Given the description of an element on the screen output the (x, y) to click on. 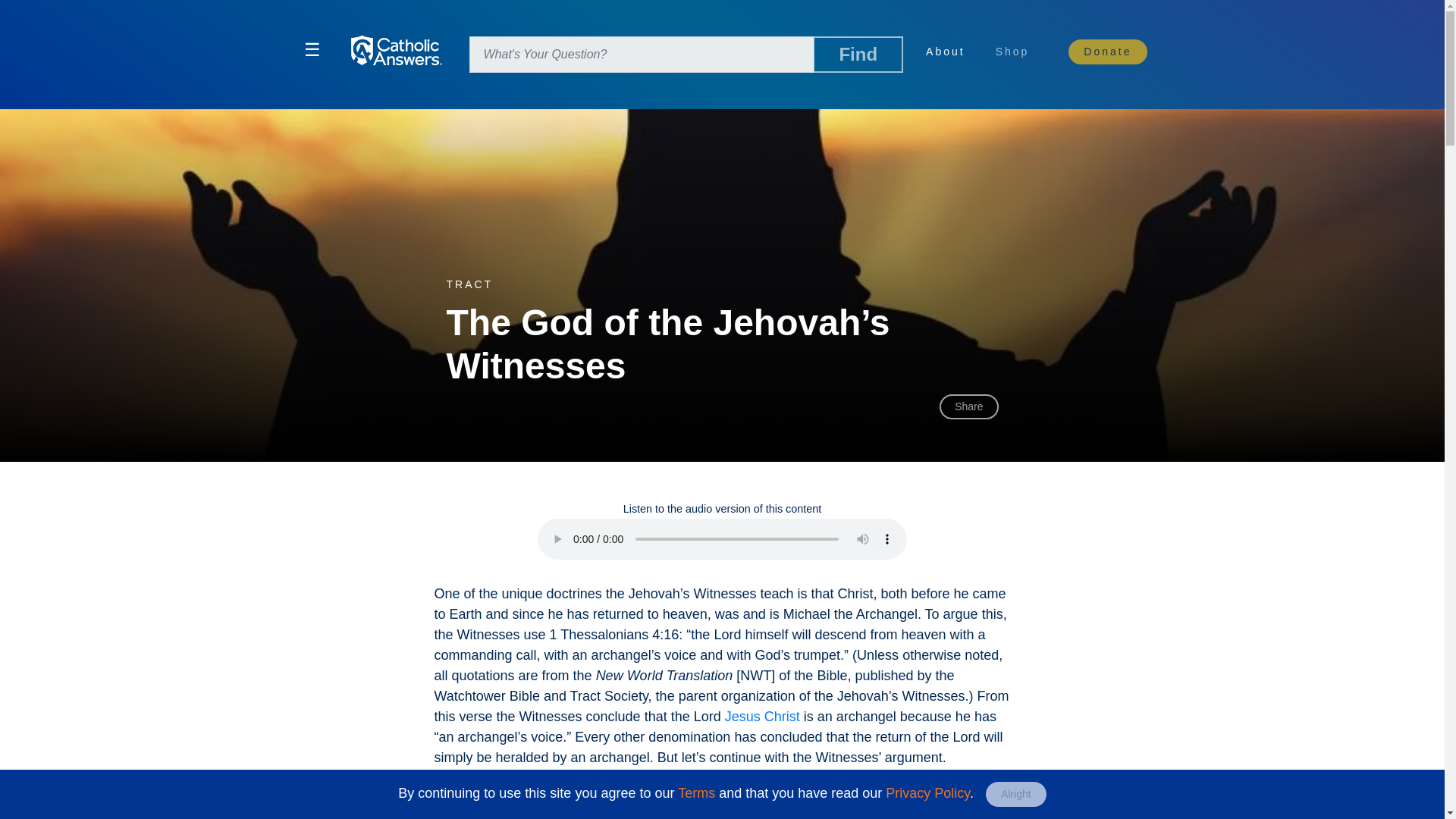
Find (857, 54)
Shop (1018, 50)
About (945, 51)
Shop (1012, 51)
